Given the description of an element on the screen output the (x, y) to click on. 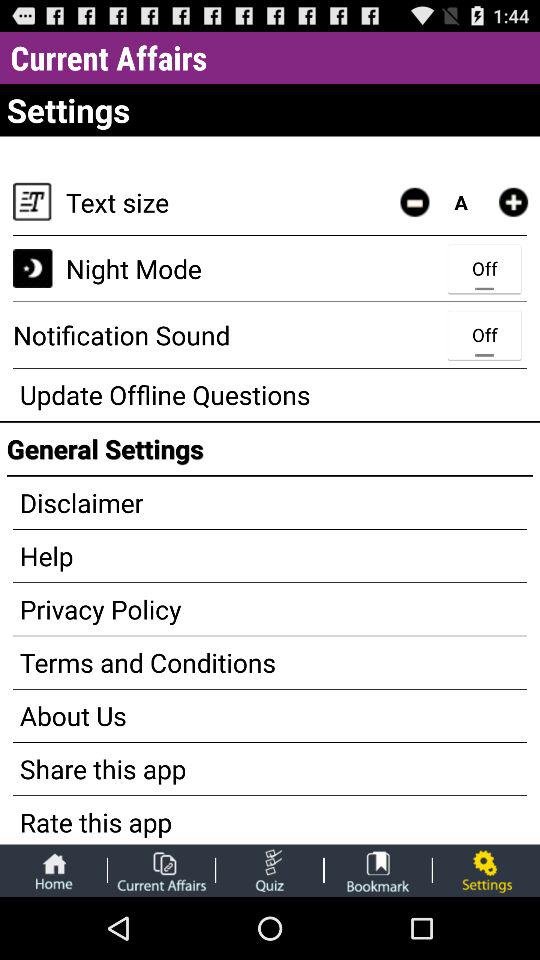
launch icon below the settings item (513, 202)
